Given the description of an element on the screen output the (x, y) to click on. 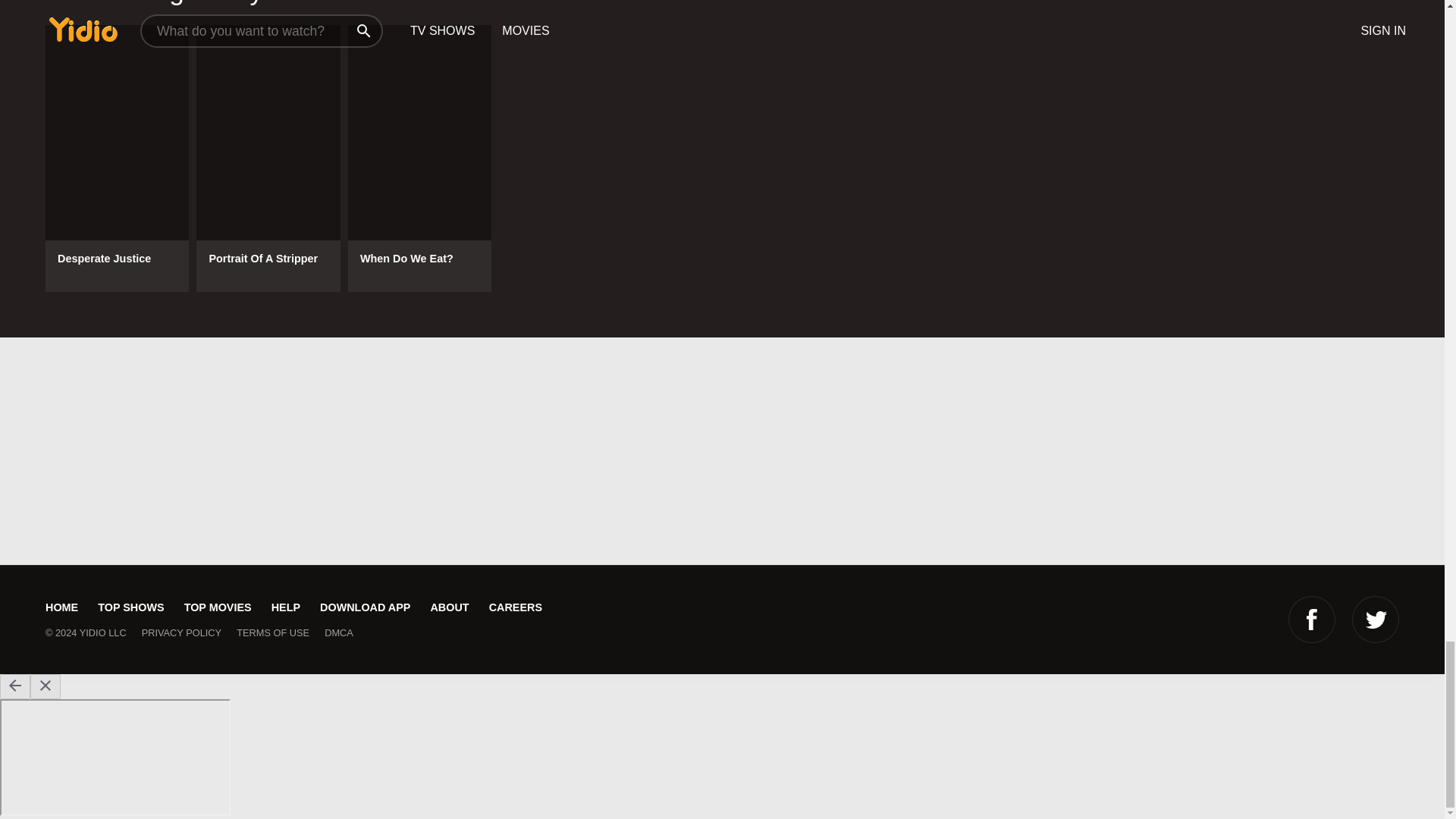
Facebook (1311, 619)
Twitter (1375, 619)
